Given the description of an element on the screen output the (x, y) to click on. 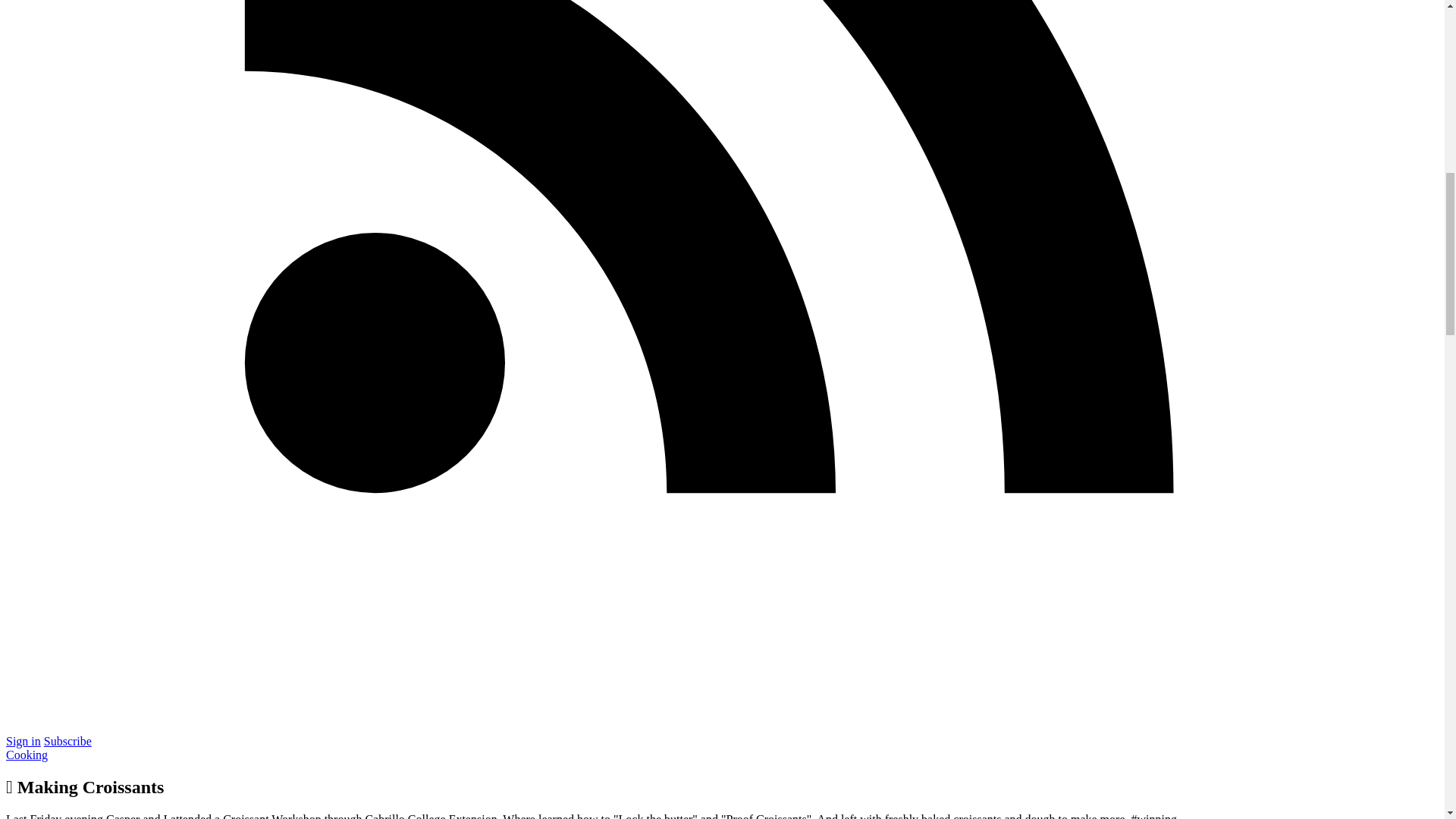
Cooking (26, 754)
Sign in (22, 740)
Subscribe (67, 740)
